Given the description of an element on the screen output the (x, y) to click on. 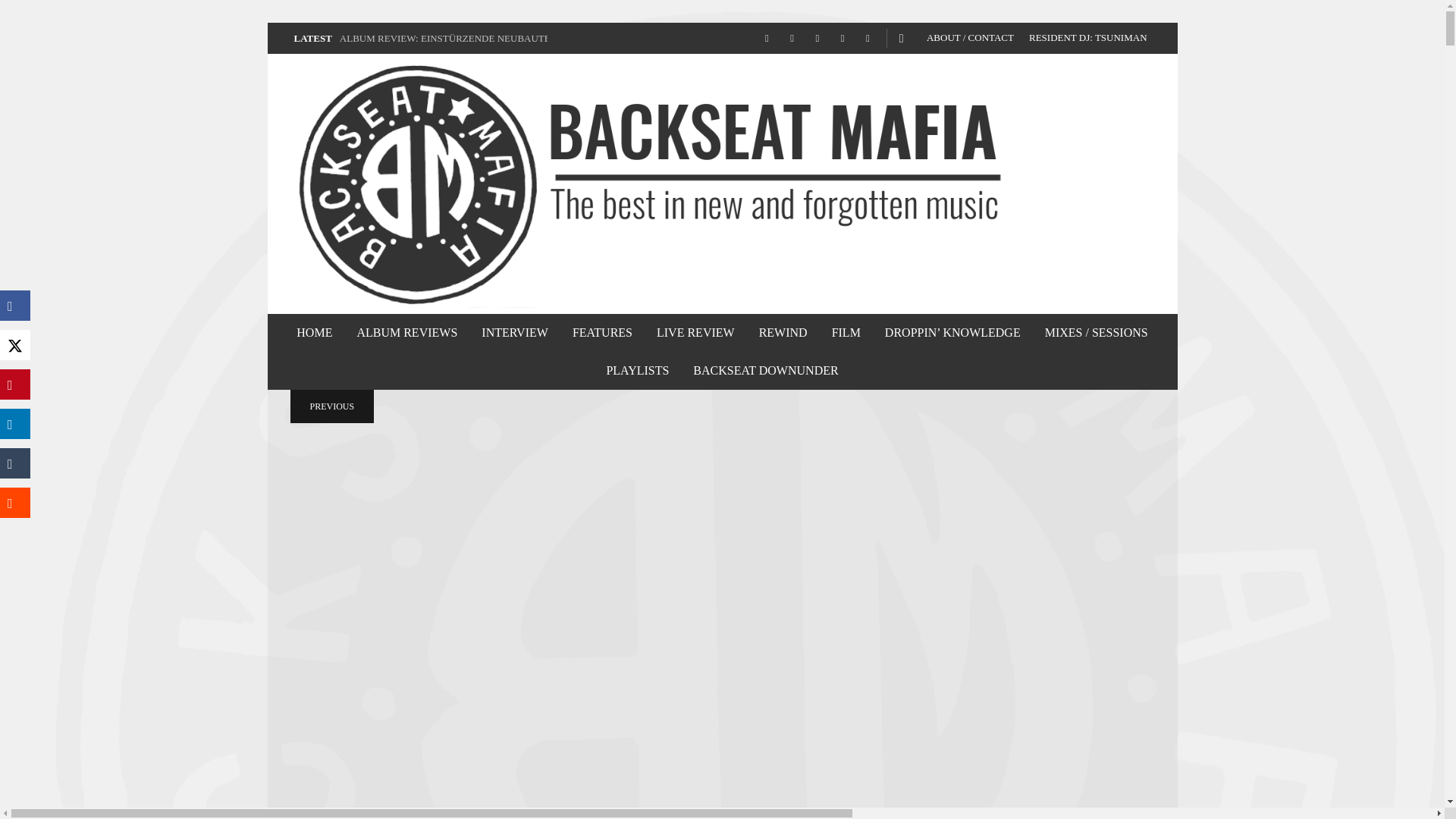
FEATURES (602, 332)
PLAYLISTS (637, 370)
LIVE REVIEW (695, 332)
Tumblr (817, 38)
RESIDENT DJ: TSUNIMAN (1088, 37)
Youtube (867, 38)
INTERVIEW (514, 332)
REWIND (782, 332)
HOME (313, 332)
Facebook (766, 38)
Twitter (842, 38)
ALBUM REVIEWS (405, 332)
Instagram (791, 38)
FILM (845, 332)
